Given the description of an element on the screen output the (x, y) to click on. 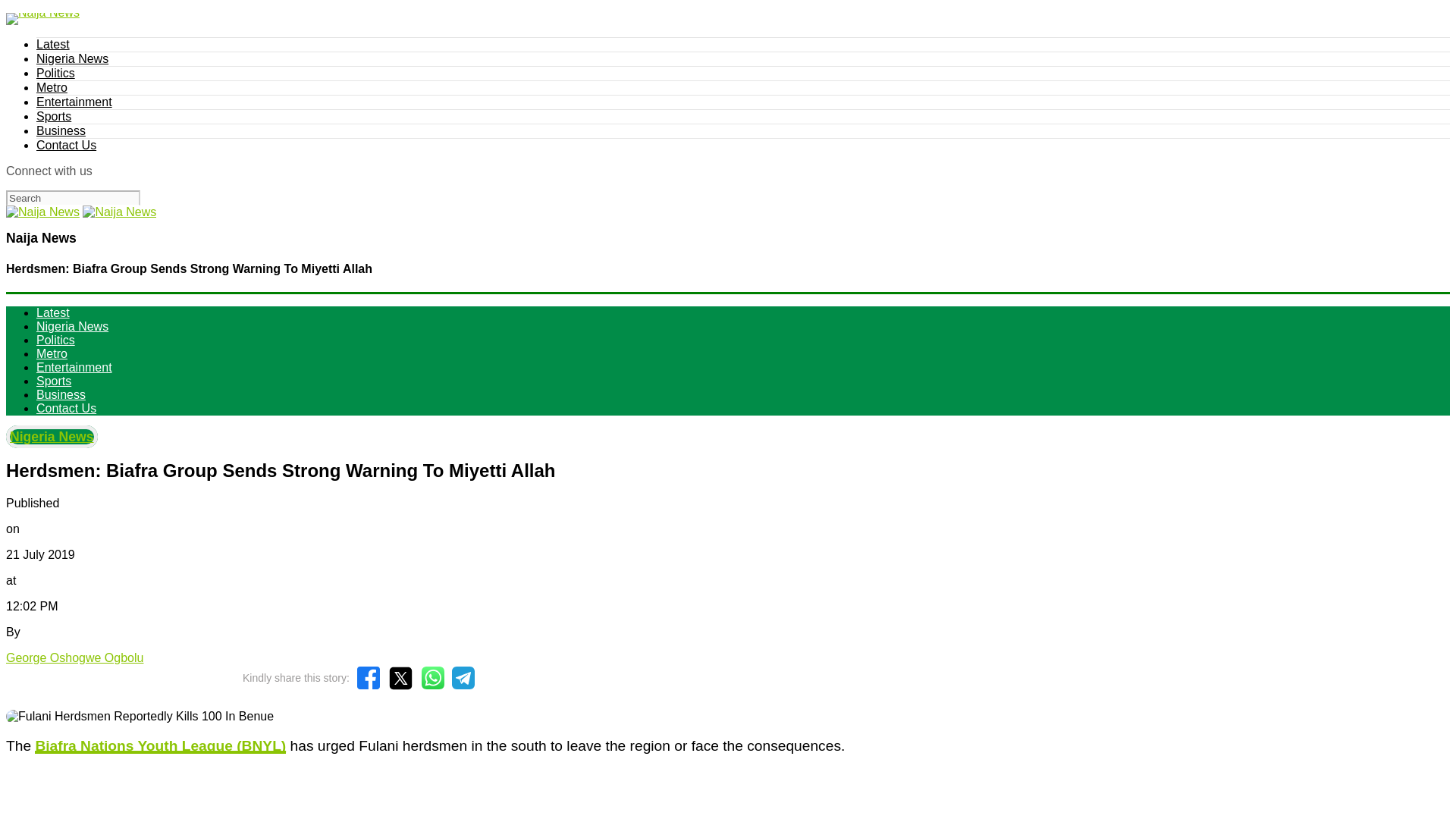
George Oshogwe Ogbolu (73, 657)
Metro (51, 87)
Entertainment (74, 367)
Sports (53, 115)
Politics (55, 72)
Nigeria News (71, 326)
Politics (55, 339)
Search (72, 197)
Nigeria News (51, 436)
Entertainment (74, 101)
Business (60, 130)
Contact Us (66, 408)
Metro (51, 353)
Business (60, 394)
Latest (52, 312)
